Given the description of an element on the screen output the (x, y) to click on. 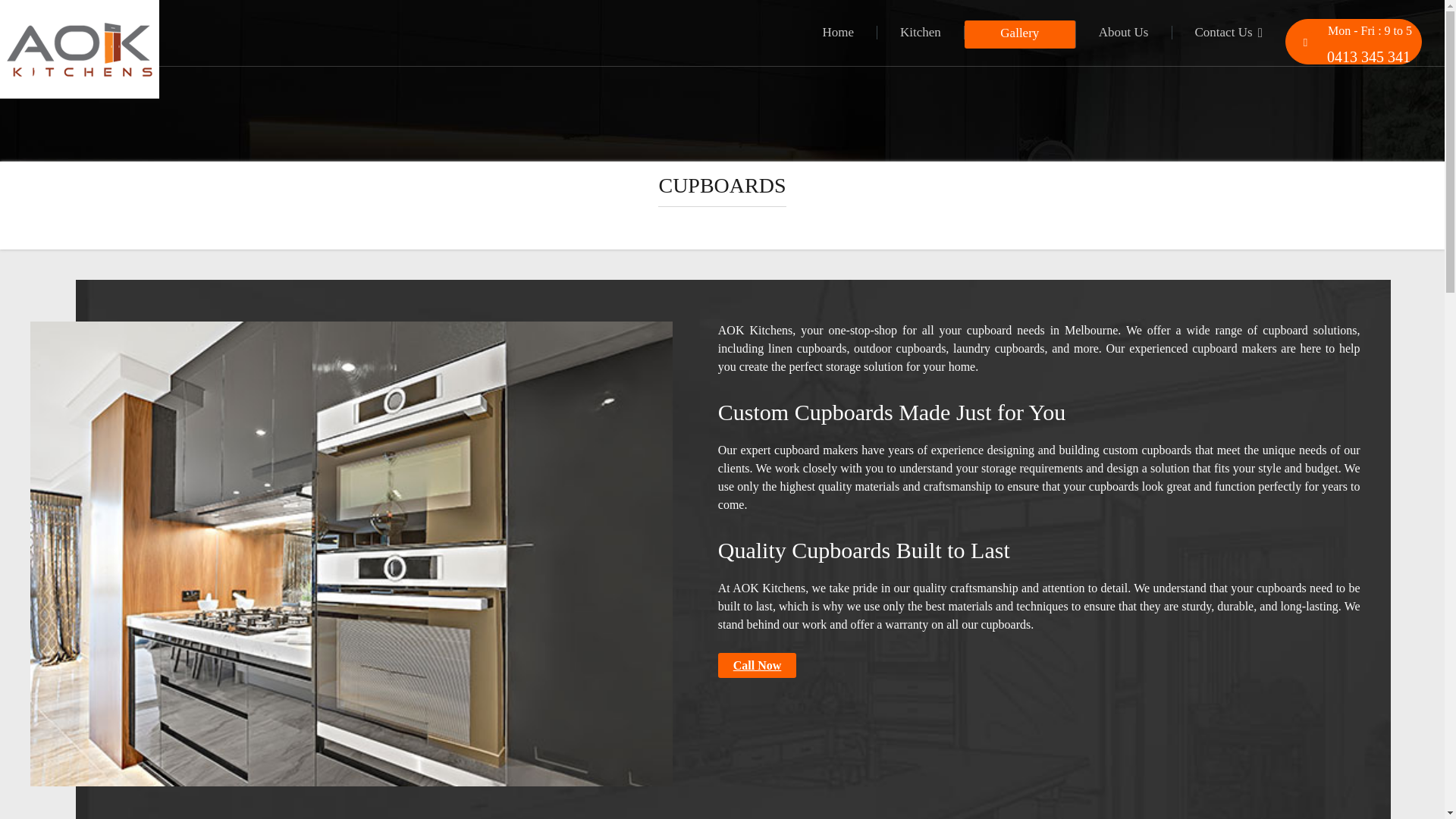
0413 345 341 (1354, 55)
Call Now (756, 665)
Kitchen (920, 32)
Home (838, 32)
Contact Us (1228, 32)
Gallery (1019, 34)
About Us (1123, 32)
